Given the description of an element on the screen output the (x, y) to click on. 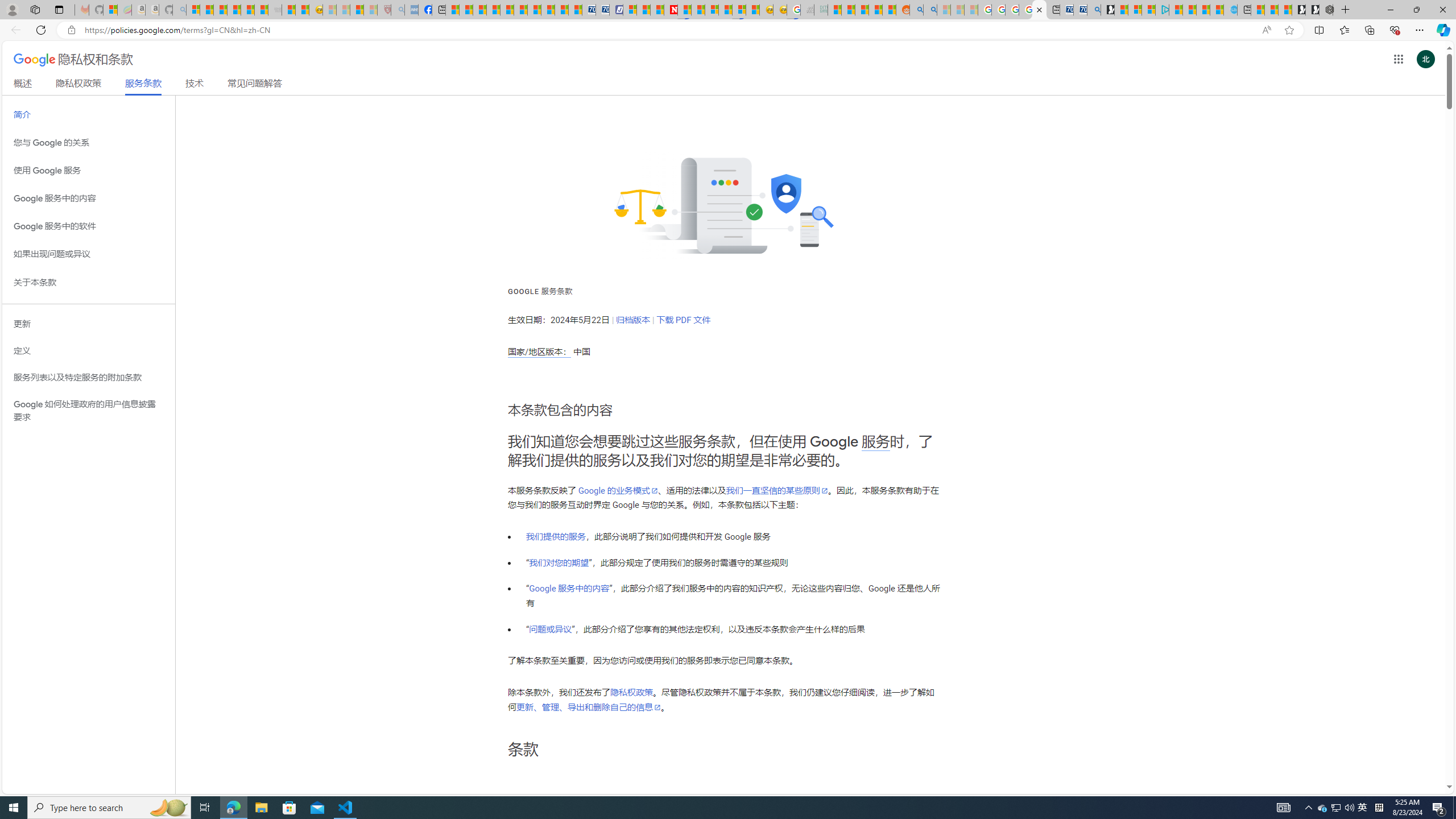
Newsweek - News, Analysis, Politics, Business, Technology (670, 9)
